Given the description of an element on the screen output the (x, y) to click on. 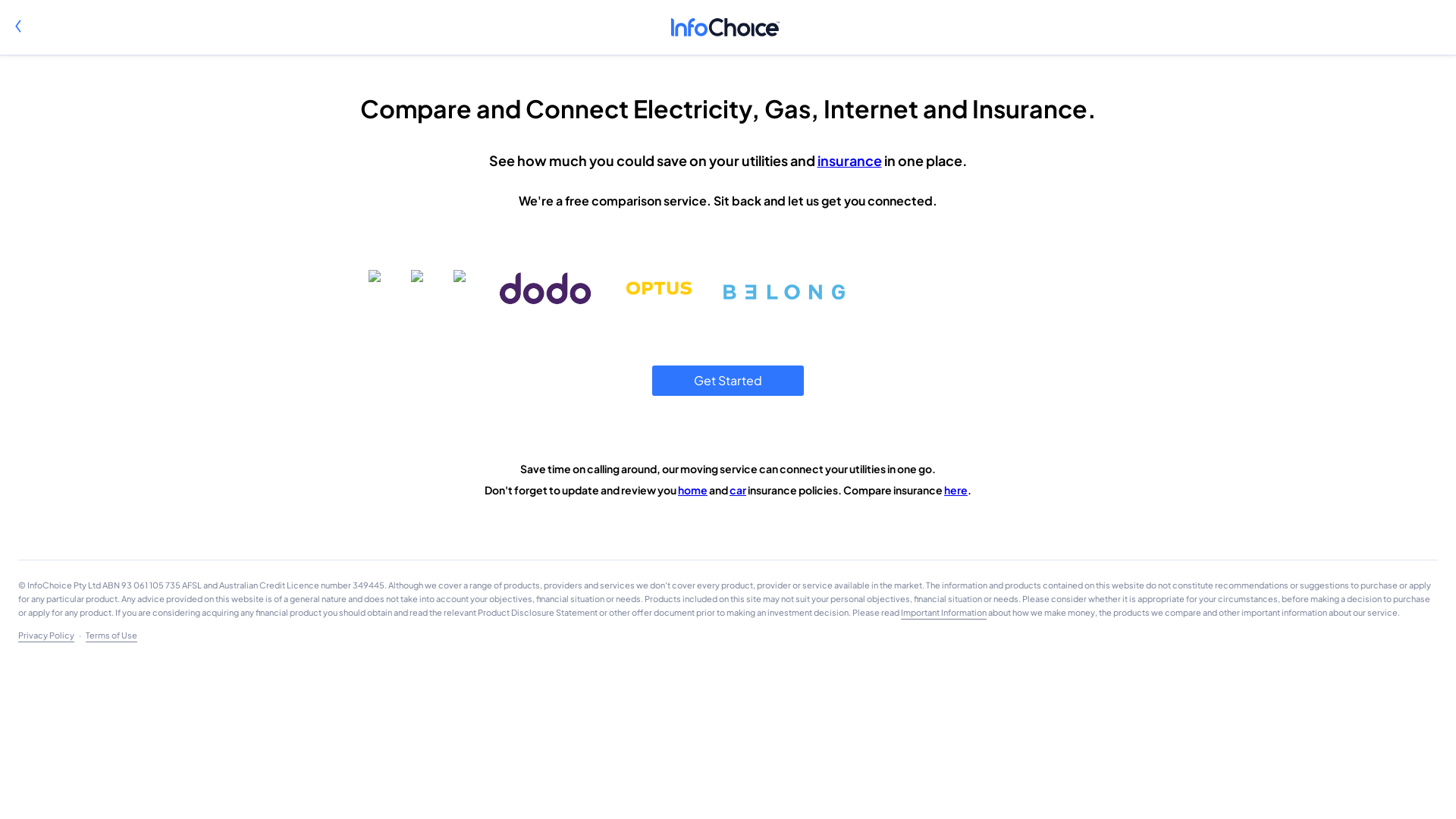
InfoChoice Element type: hover (727, 27)
here Element type: text (955, 489)
dodo Element type: hover (551, 287)
home Element type: text (692, 489)
Important Information Element type: text (943, 612)
Simply Energy Element type: hover (425, 287)
BELONG Element type: hover (786, 287)
insurance Element type: text (849, 160)
OPTUS Element type: hover (663, 287)
Terms of Use Element type: text (111, 635)
Privacy Policy Element type: text (46, 635)
Get Started Element type: text (727, 380)
Tango Energy Element type: hover (466, 287)
Red Energy Element type: hover (384, 287)
car Element type: text (737, 489)
